Given the description of an element on the screen output the (x, y) to click on. 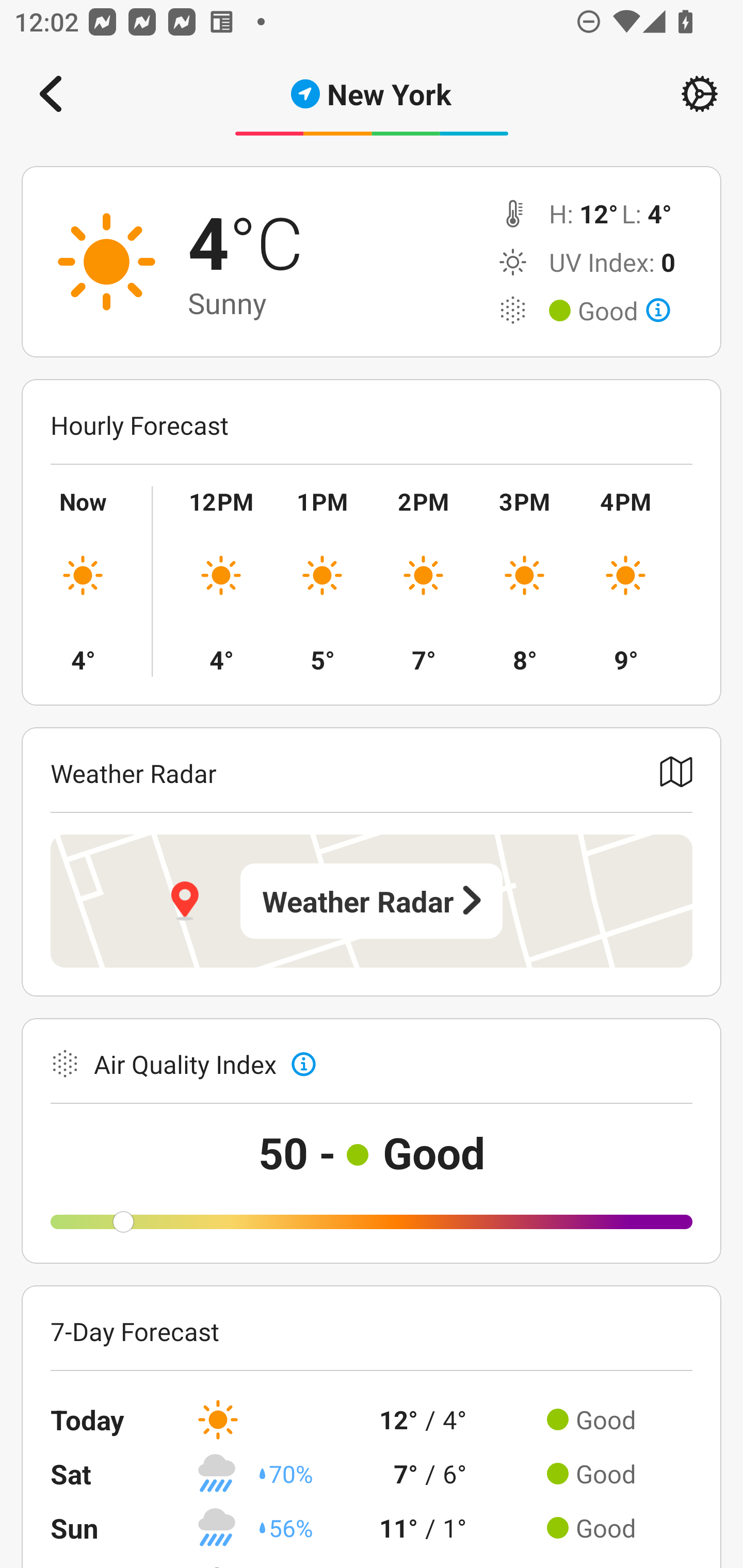
Navigate up (50, 93)
Setting (699, 93)
Good (624, 310)
Weather Radar (371, 900)
